Given the description of an element on the screen output the (x, y) to click on. 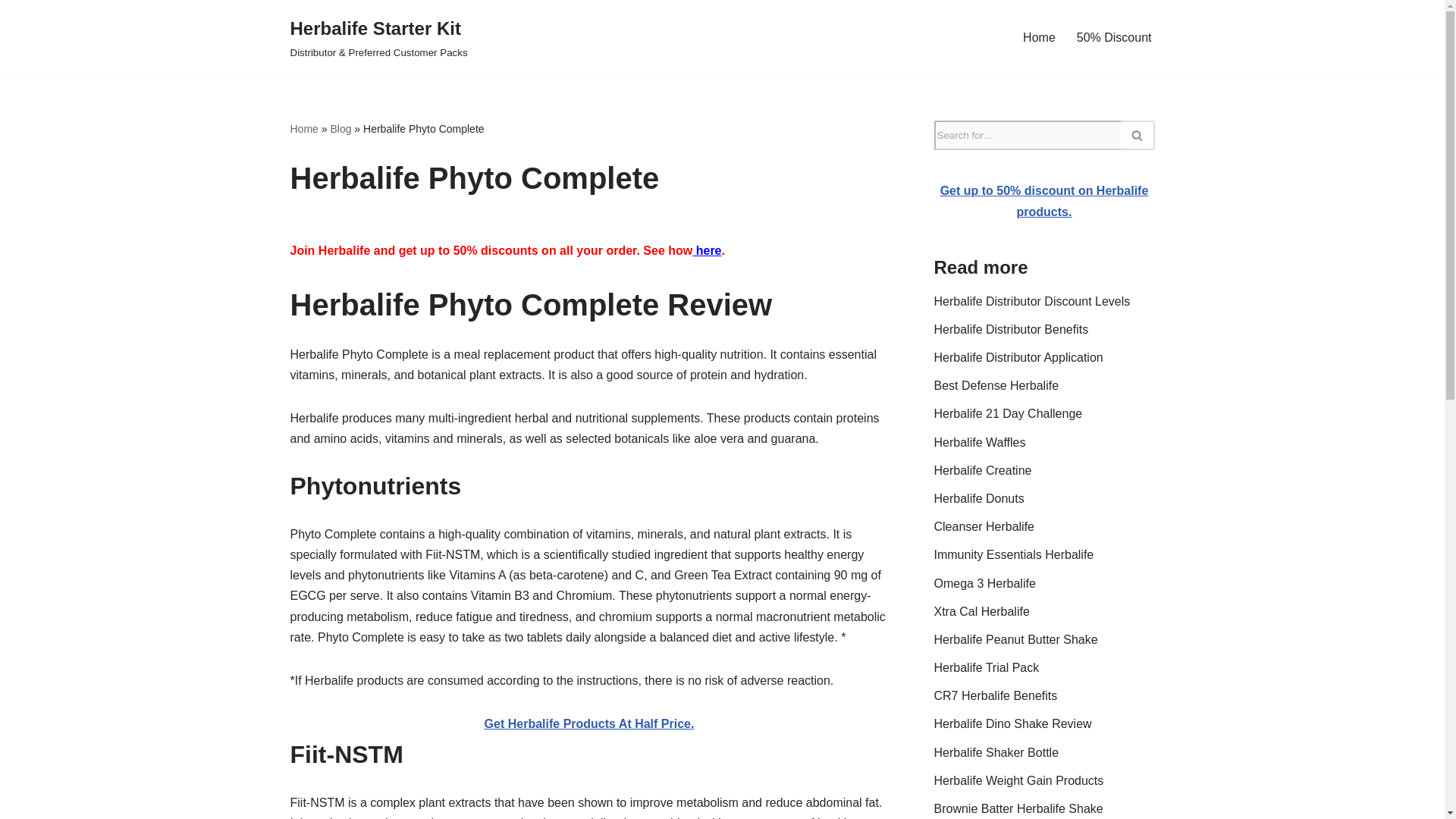
Skip to content (11, 31)
Herbalife Peanut Butter Shake (1015, 639)
Get Herbalife Products At Half Price. (589, 723)
Herbalife Distributor Benefits (1011, 328)
Herbalife Waffles (980, 441)
Brownie Batter Herbalife Shake (1018, 808)
Herbalife Donuts (979, 498)
Omega 3 Herbalife (984, 582)
Herbalife Trial Pack (986, 667)
Immunity Essentials Herbalife (1014, 554)
